Given the description of an element on the screen output the (x, y) to click on. 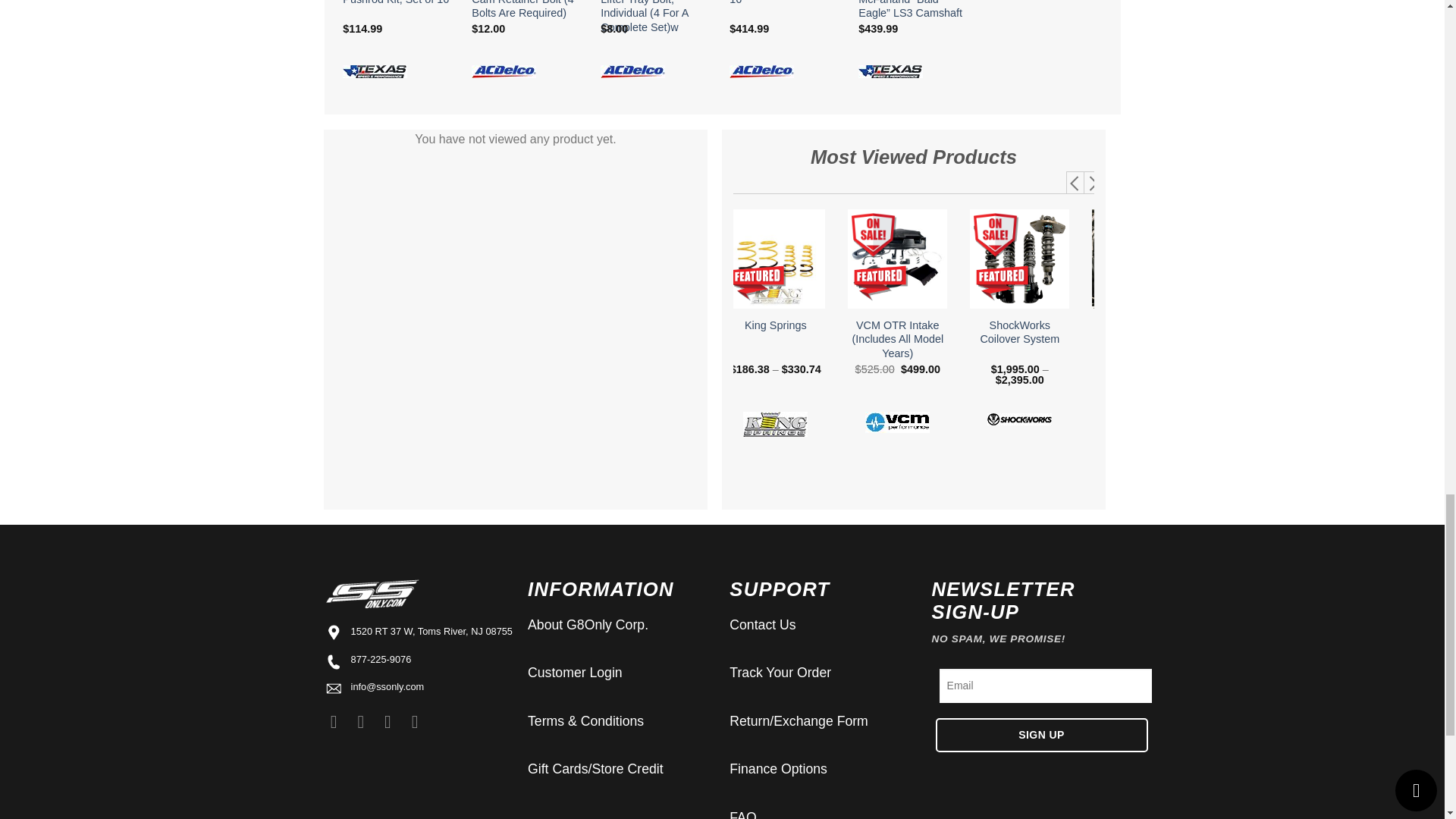
Texas Speed (891, 70)
SIGN UP (1042, 735)
Texas Speed (374, 70)
KING Springs (775, 423)
